Given the description of an element on the screen output the (x, y) to click on. 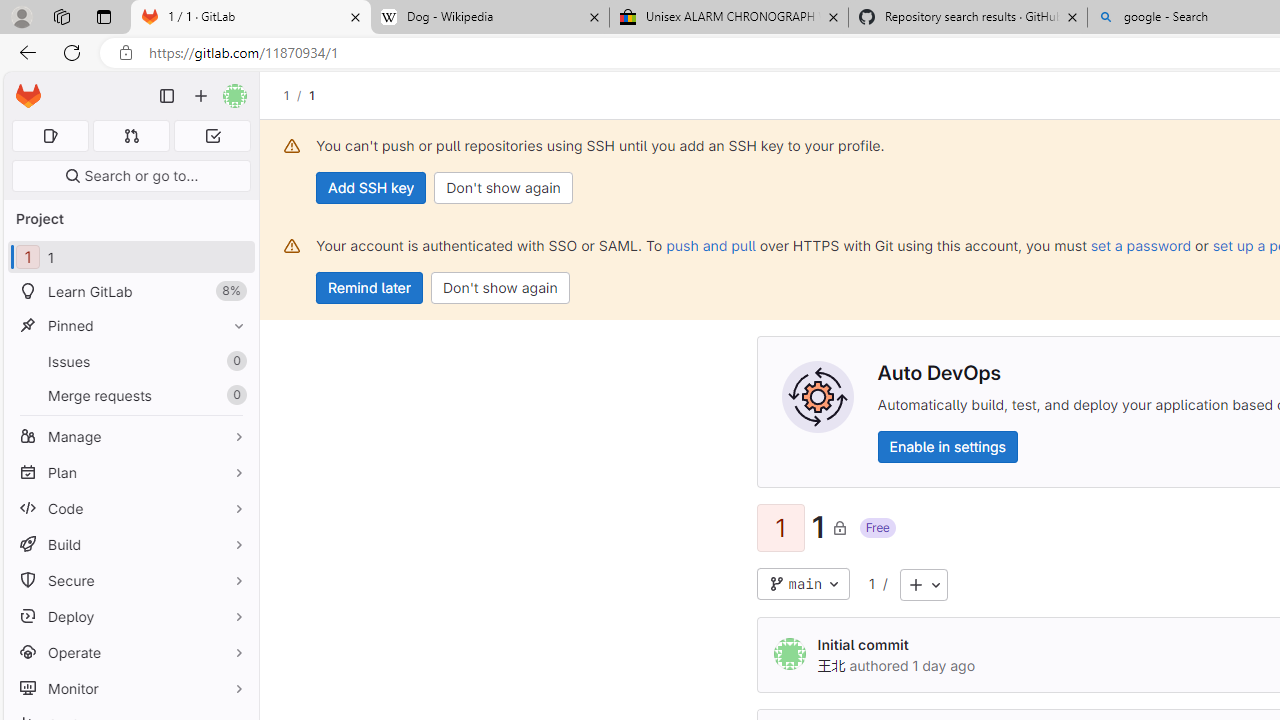
11 (130, 257)
Enable in settings (946, 446)
set a password (1140, 245)
Assigned issues 0 (50, 136)
